Given the description of an element on the screen output the (x, y) to click on. 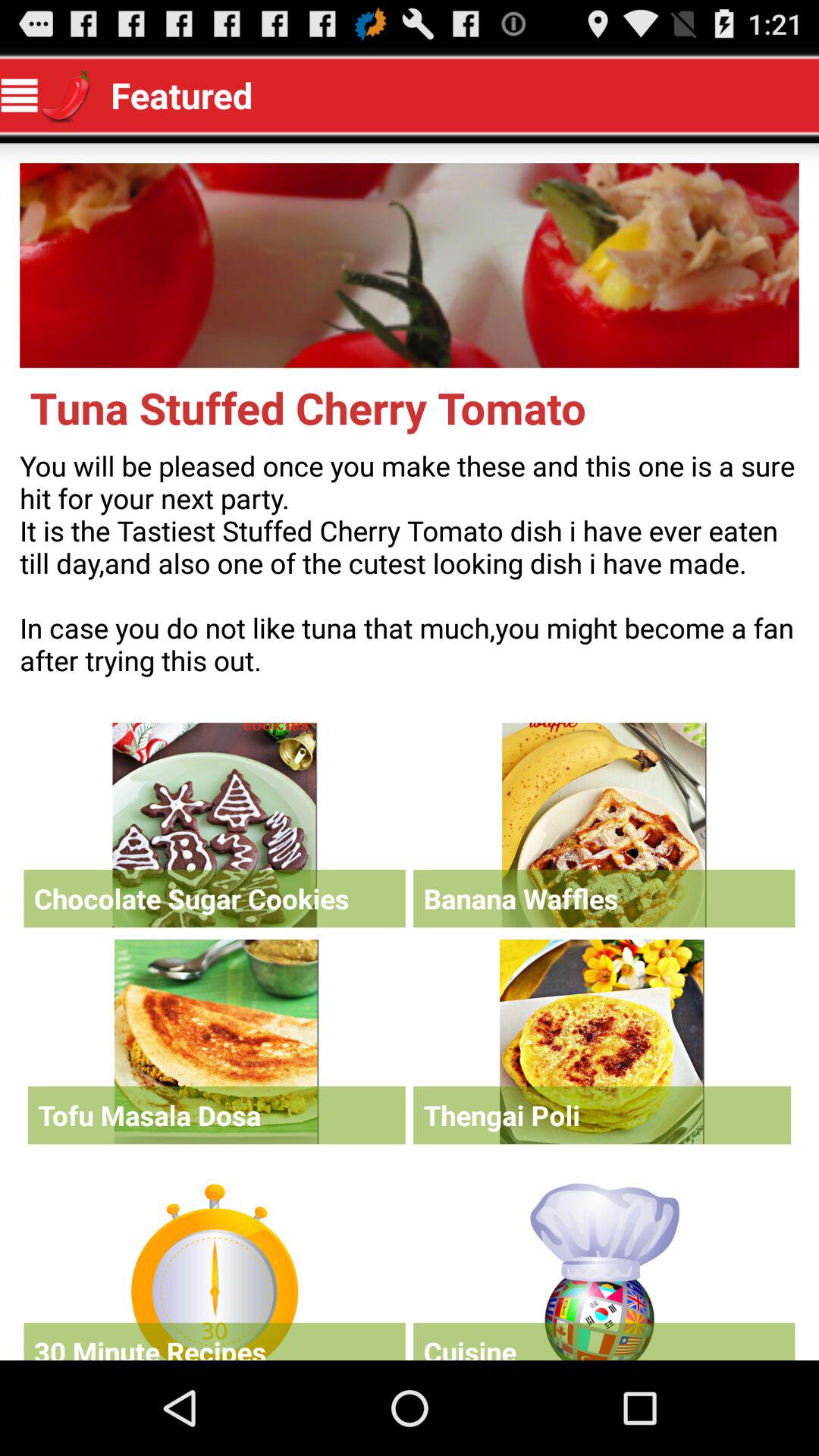
examine picture (409, 265)
